Given the description of an element on the screen output the (x, y) to click on. 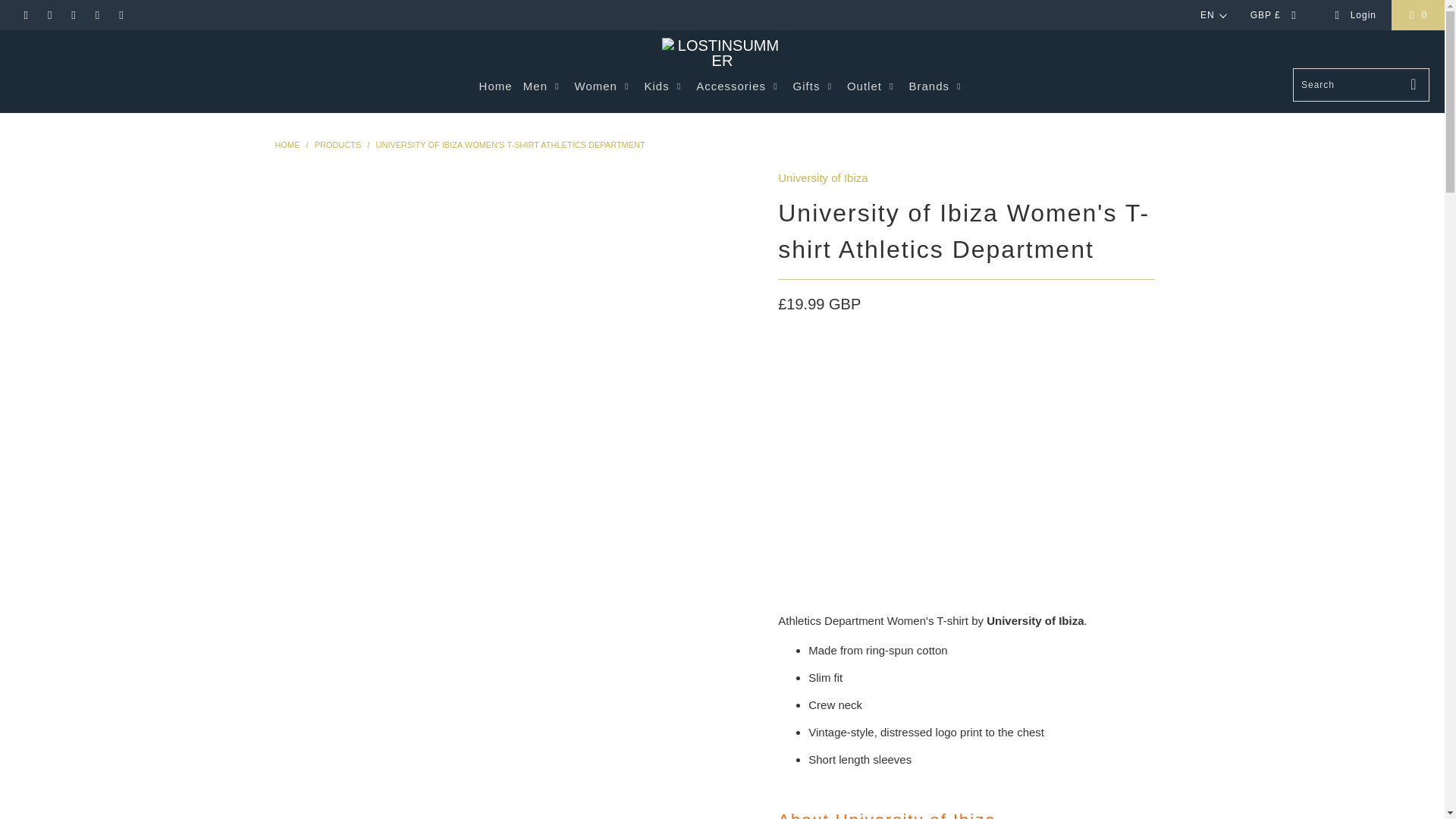
LostinSummer (287, 144)
LostinSummer on Instagram (96, 14)
Products (337, 144)
University of Ibiza (822, 177)
LostinSummer on Pinterest (73, 14)
My Account  (1355, 15)
LostinSummer on Facebook (48, 14)
Email LostinSummer (121, 14)
LostinSummer (722, 52)
LostinSummer on Twitter (25, 14)
